Given the description of an element on the screen output the (x, y) to click on. 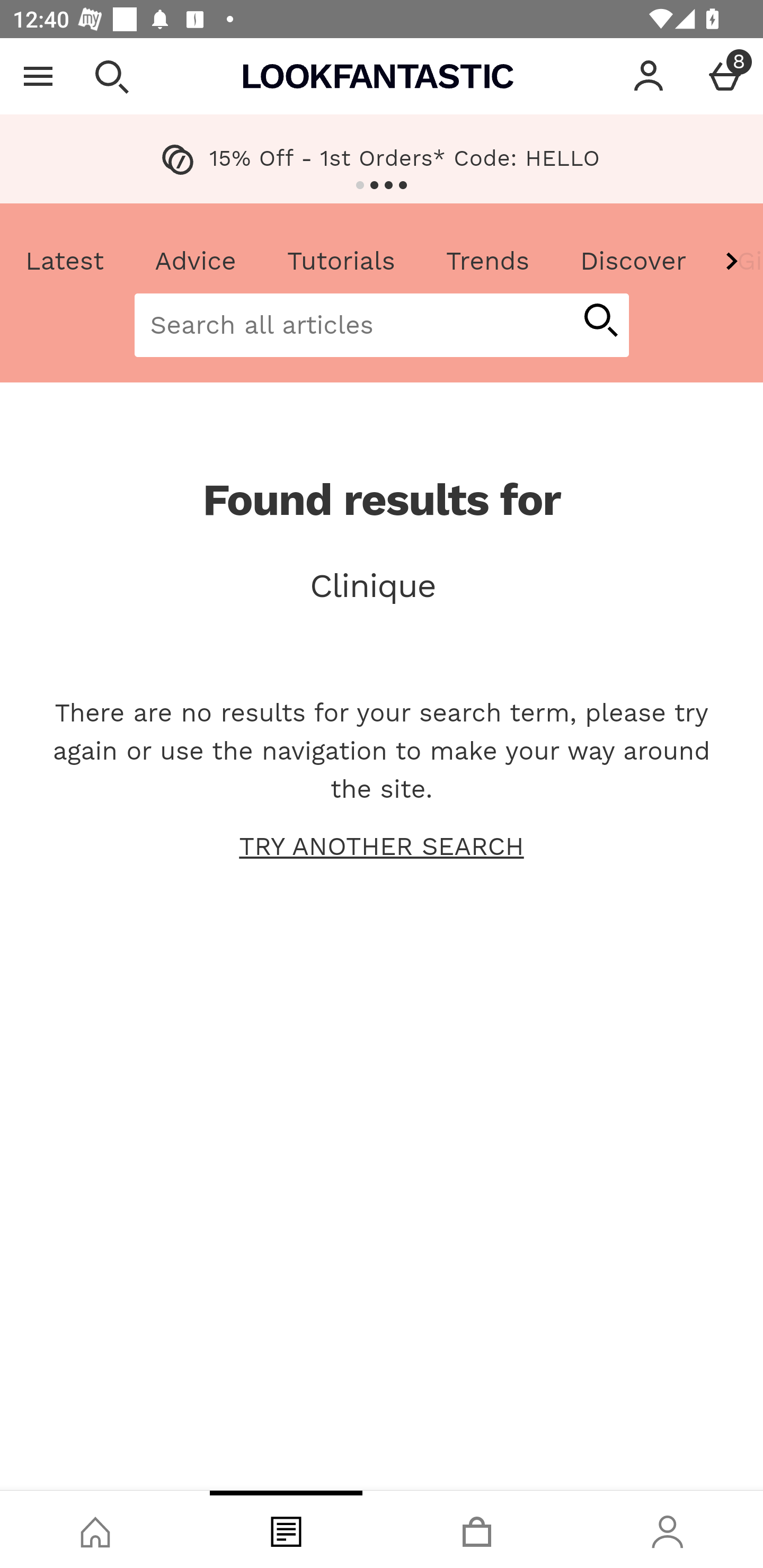
Open Menu (38, 75)
Open search (111, 75)
Account (648, 75)
Basket Menu (724, 75)
15% Off - 1st Orders* Code: HELLO (381, 158)
Latest (65, 261)
Advice (195, 261)
Tutorials (340, 261)
Trends (486, 261)
Discover (632, 261)
Gift Guide (736, 261)
start article search (599, 321)
Clinique (381, 585)
TRY ANOTHER SEARCH (381, 845)
Shop, tab, 1 of 4 (95, 1529)
Blog, tab, 2 of 4 (285, 1529)
Basket, tab, 3 of 4 (476, 1529)
Account, tab, 4 of 4 (667, 1529)
